Given the description of an element on the screen output the (x, y) to click on. 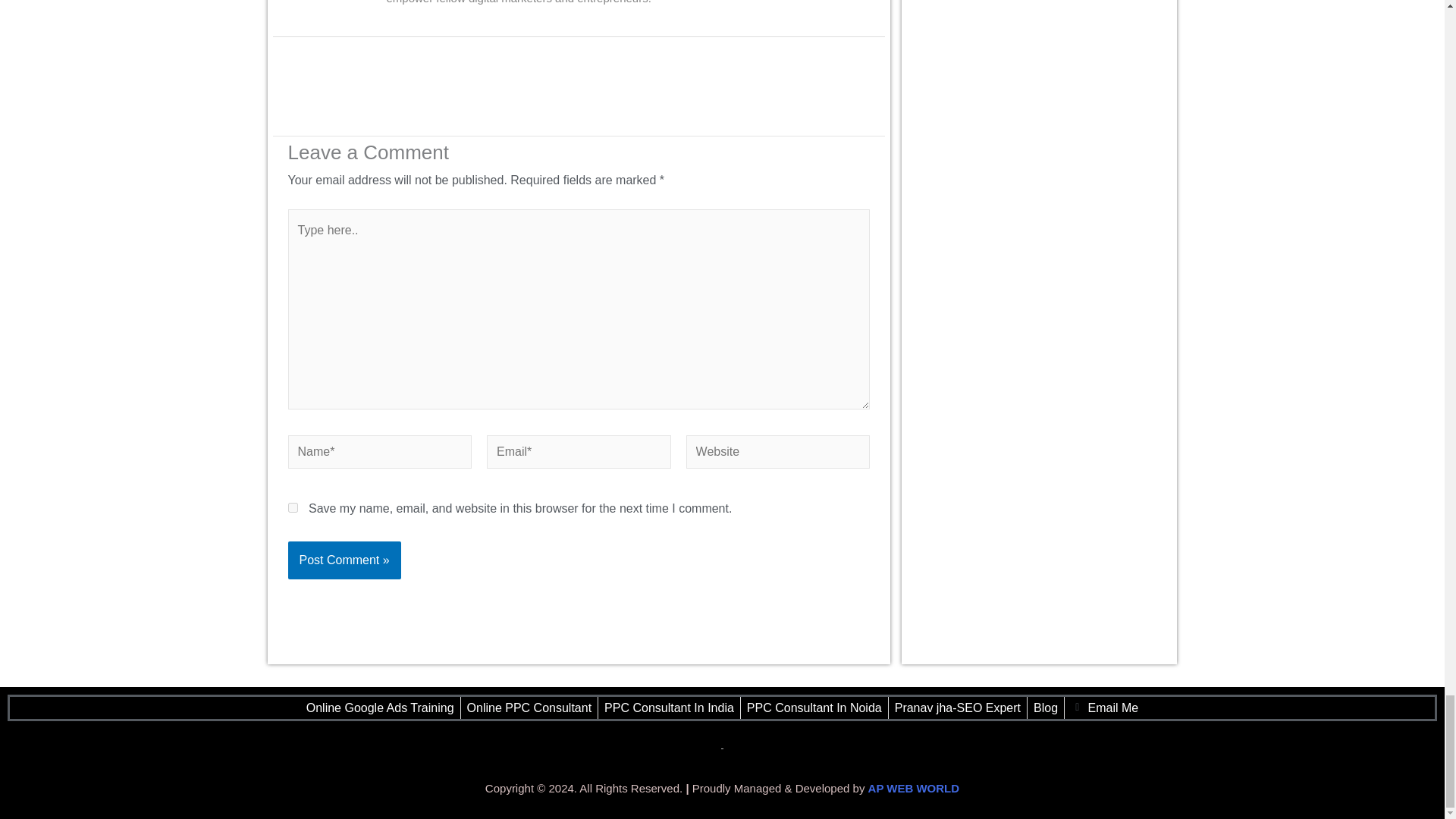
yes (293, 507)
